Given the description of an element on the screen output the (x, y) to click on. 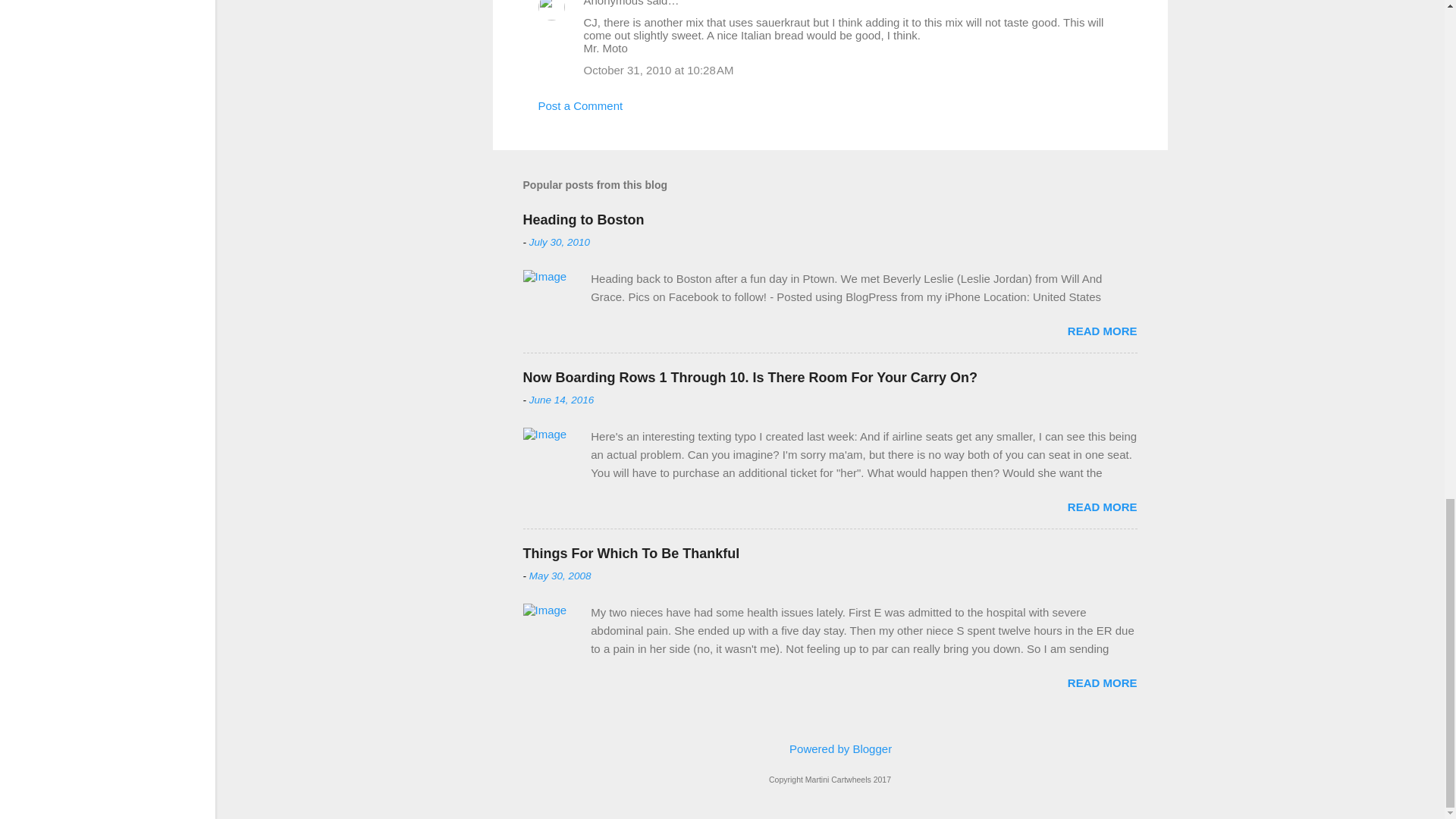
June 14, 2016 (561, 399)
May 30, 2008 (560, 575)
Things For Which To Be Thankful (630, 553)
Heading to Boston (583, 219)
READ MORE (1102, 506)
READ MORE (1102, 330)
July 30, 2010 (559, 242)
Post a Comment (580, 105)
